Given the description of an element on the screen output the (x, y) to click on. 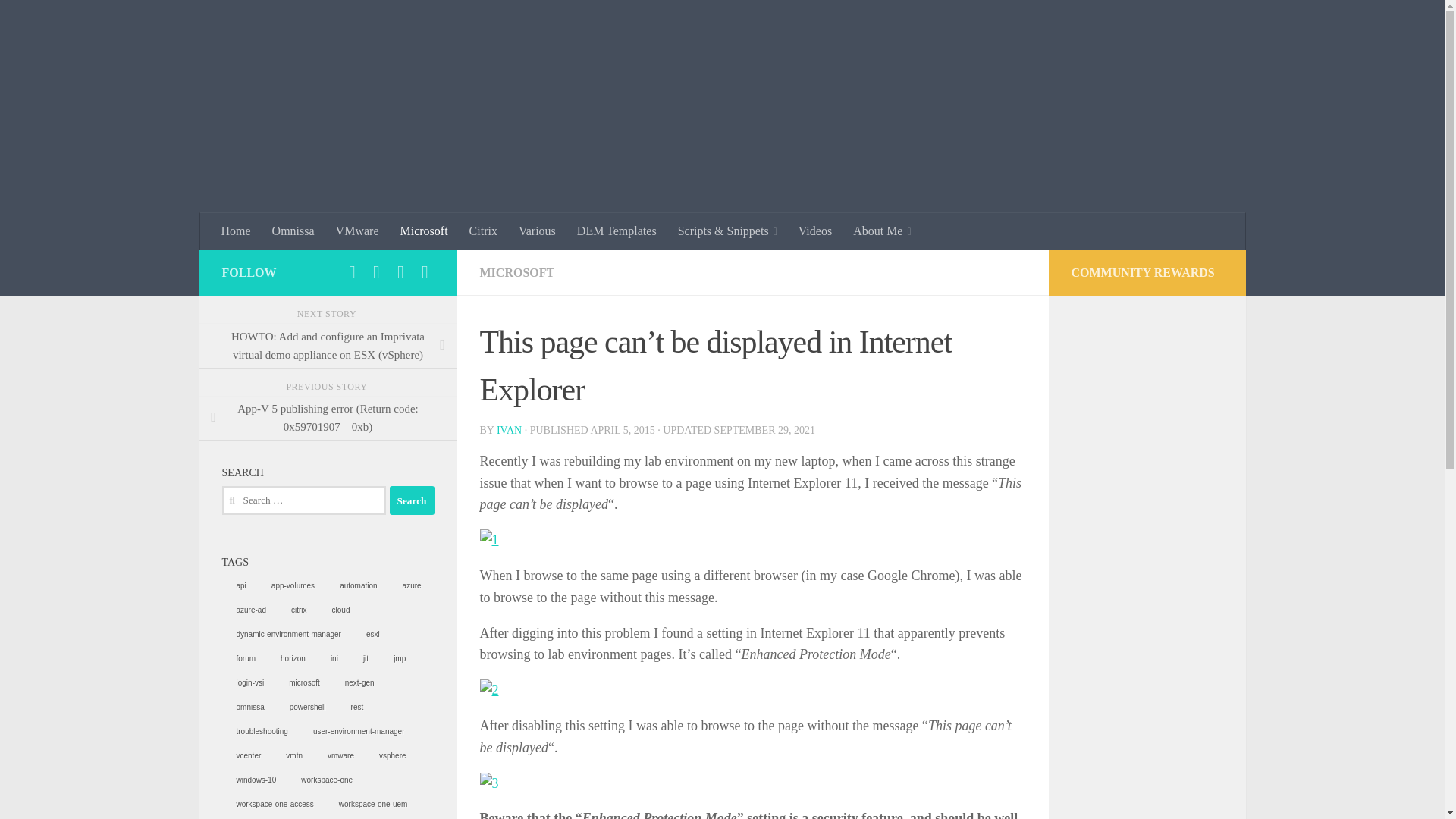
VMware (357, 231)
About Me (882, 231)
Citrix (483, 231)
DEM Templates (616, 231)
Various (537, 231)
Search (411, 500)
Follow me on Github (351, 271)
Follow me on Twitter (400, 271)
IVAN (508, 430)
Posts by Ivan (508, 430)
